Given the description of an element on the screen output the (x, y) to click on. 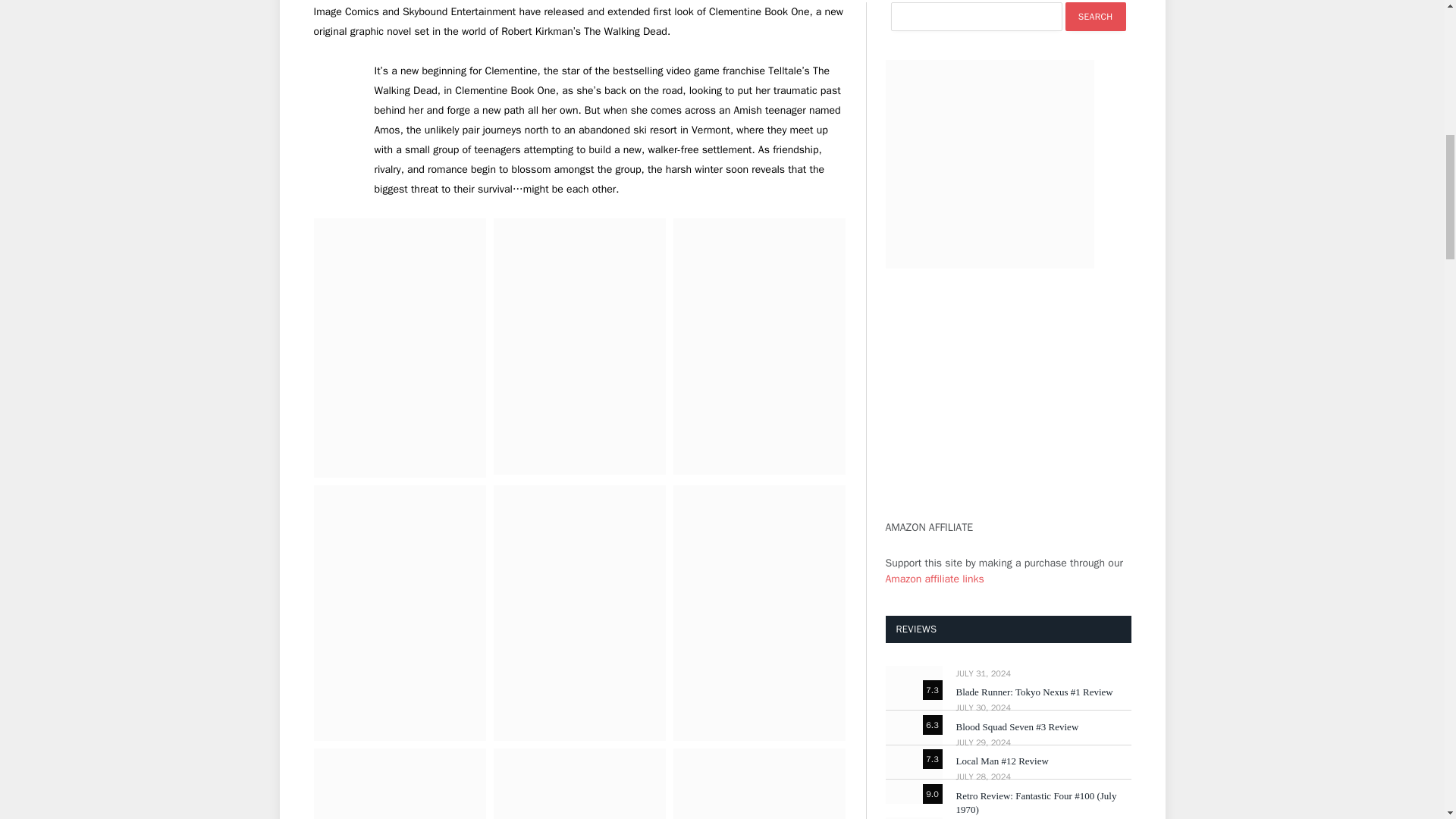
Search (1095, 16)
